Given the description of an element on the screen output the (x, y) to click on. 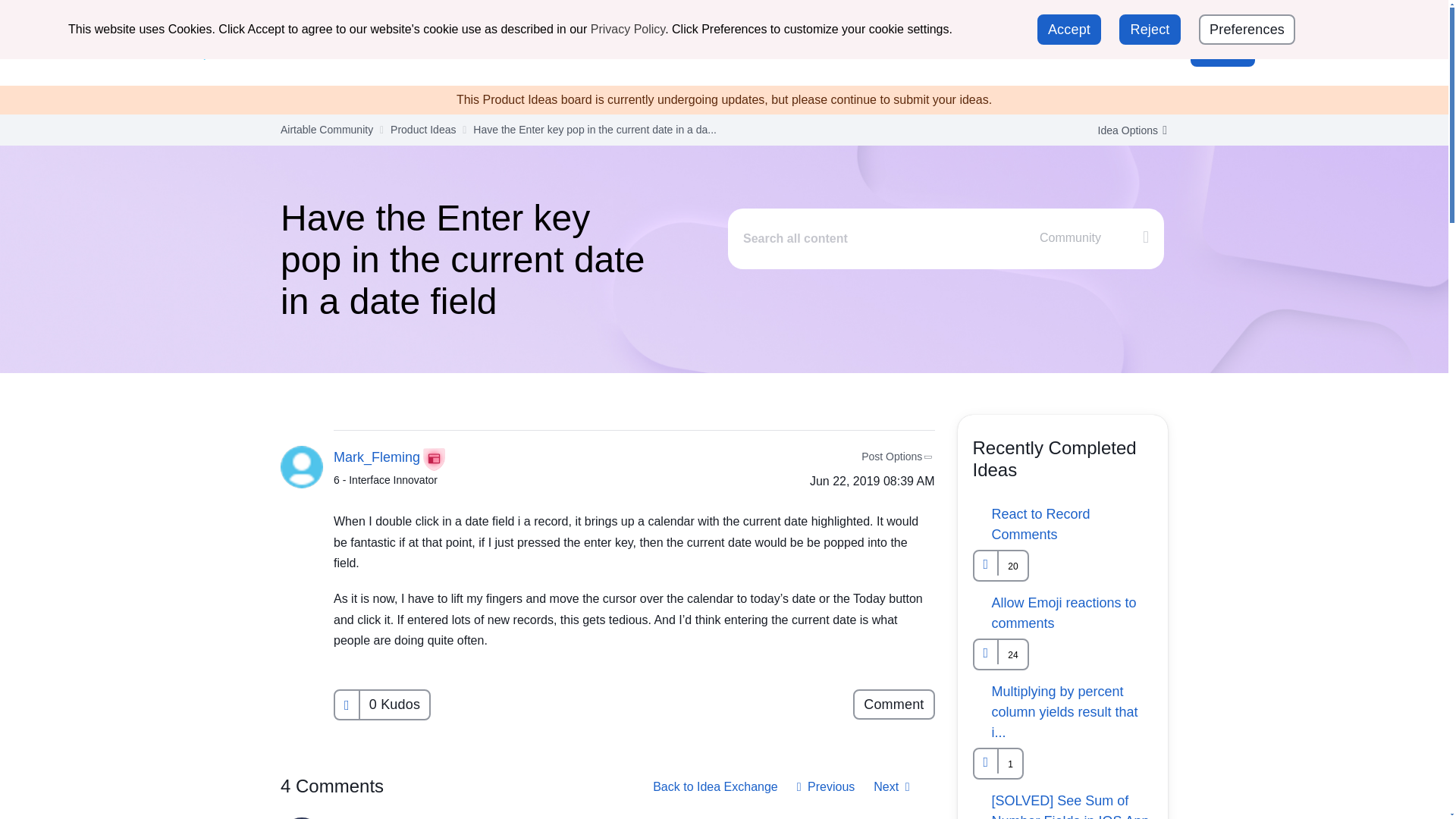
Search Granularity (1096, 237)
Support (1104, 17)
Privacy Policy (628, 29)
Announcements (417, 50)
Accept (1068, 29)
Search (1114, 51)
Groups (597, 50)
Product Ideas (826, 50)
Events (661, 50)
Resources (734, 50)
Reject (1149, 29)
Sign up for Airtable (1204, 17)
Show option menu (1127, 130)
Discussions (519, 50)
Airtable Community (269, 51)
